Given the description of an element on the screen output the (x, y) to click on. 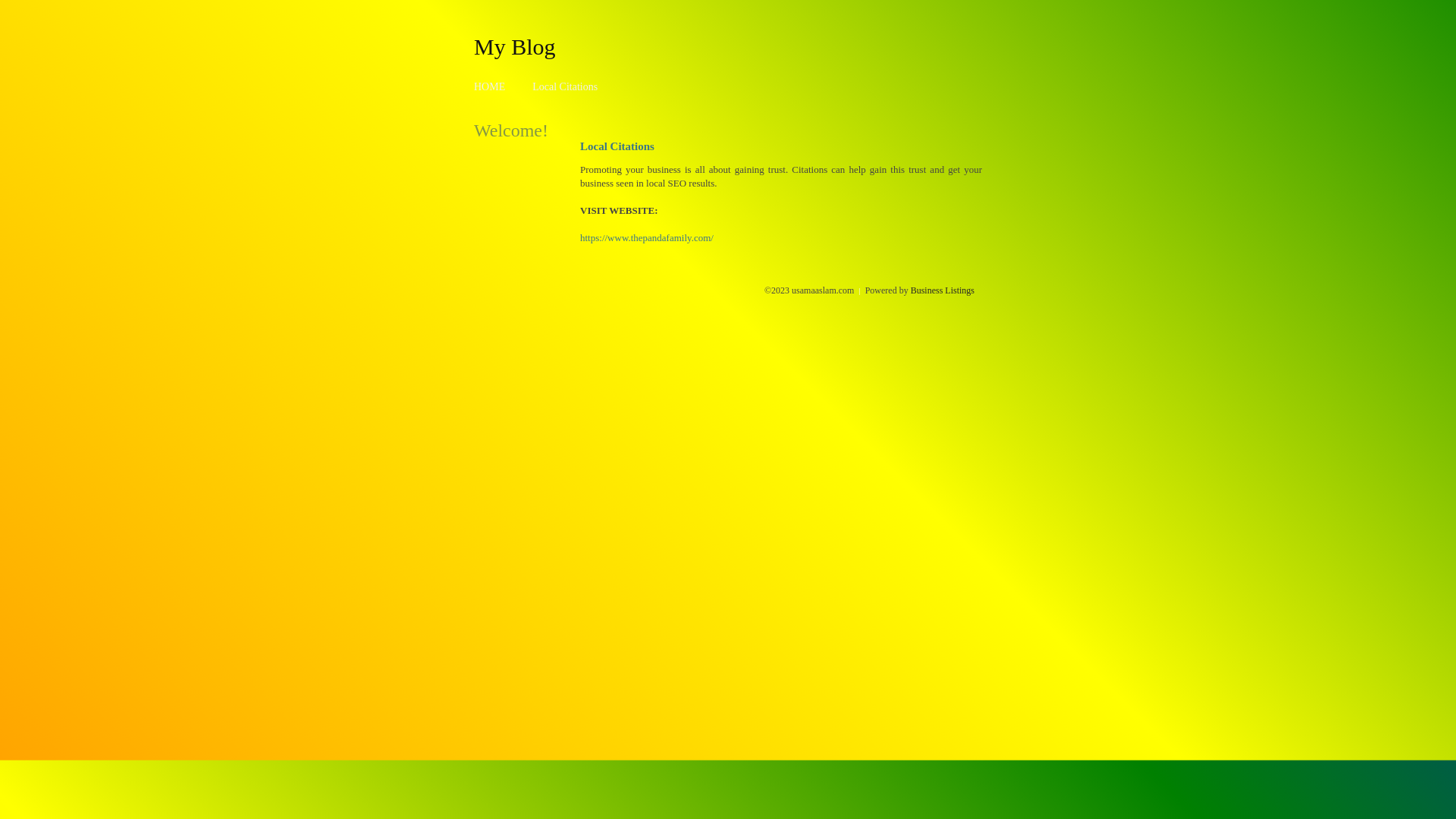
Local Citations Element type: text (564, 86)
Business Listings Element type: text (942, 290)
My Blog Element type: text (514, 46)
https://www.thepandafamily.com/ Element type: text (646, 237)
HOME Element type: text (489, 86)
